Given the description of an element on the screen output the (x, y) to click on. 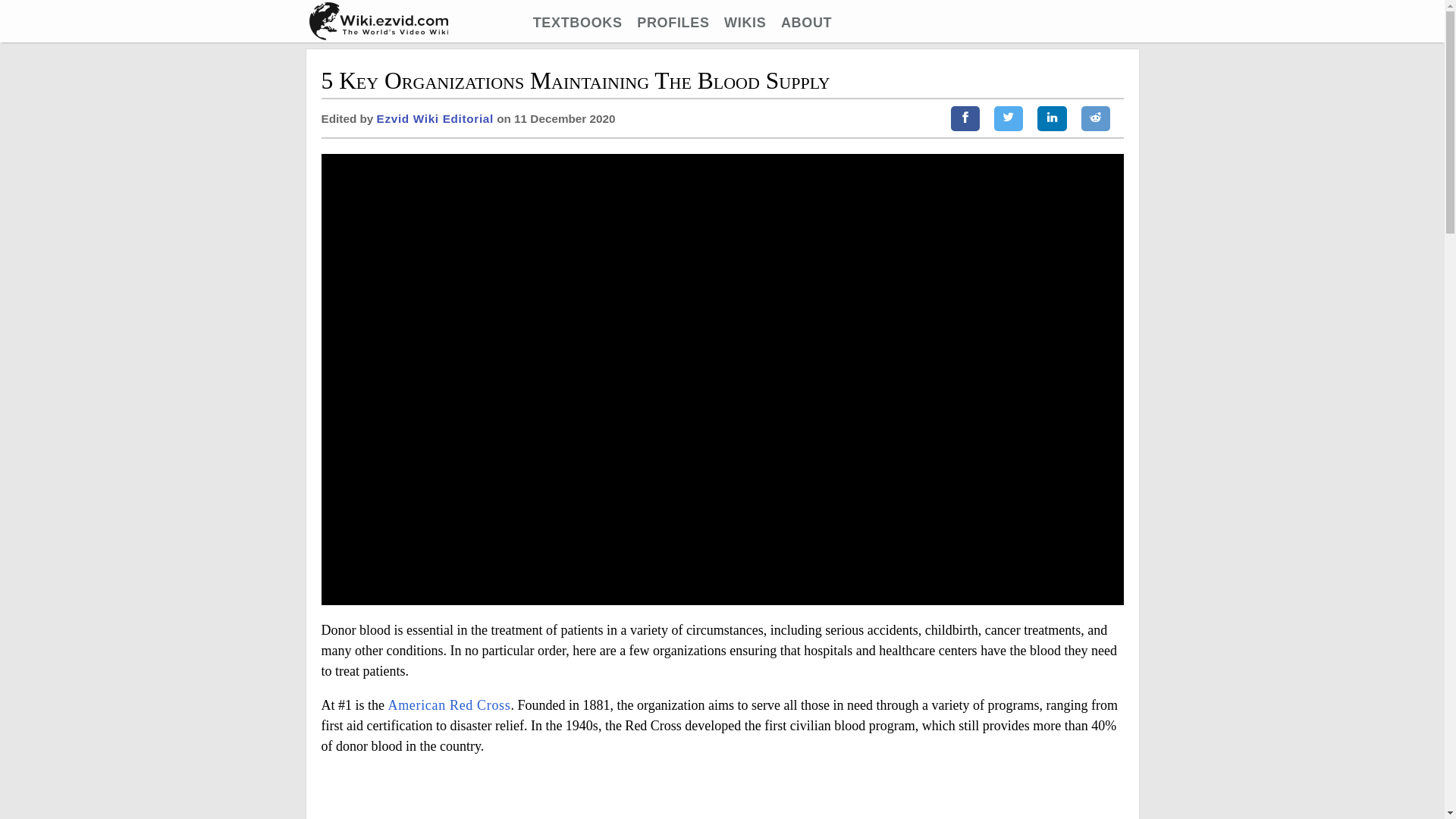
WIKIS (744, 22)
American Red Cross (449, 704)
Ezvid Wiki Editorial (435, 118)
ABOUT (805, 22)
TEXTBOOKS (577, 22)
PROFILES (673, 22)
